Given the description of an element on the screen output the (x, y) to click on. 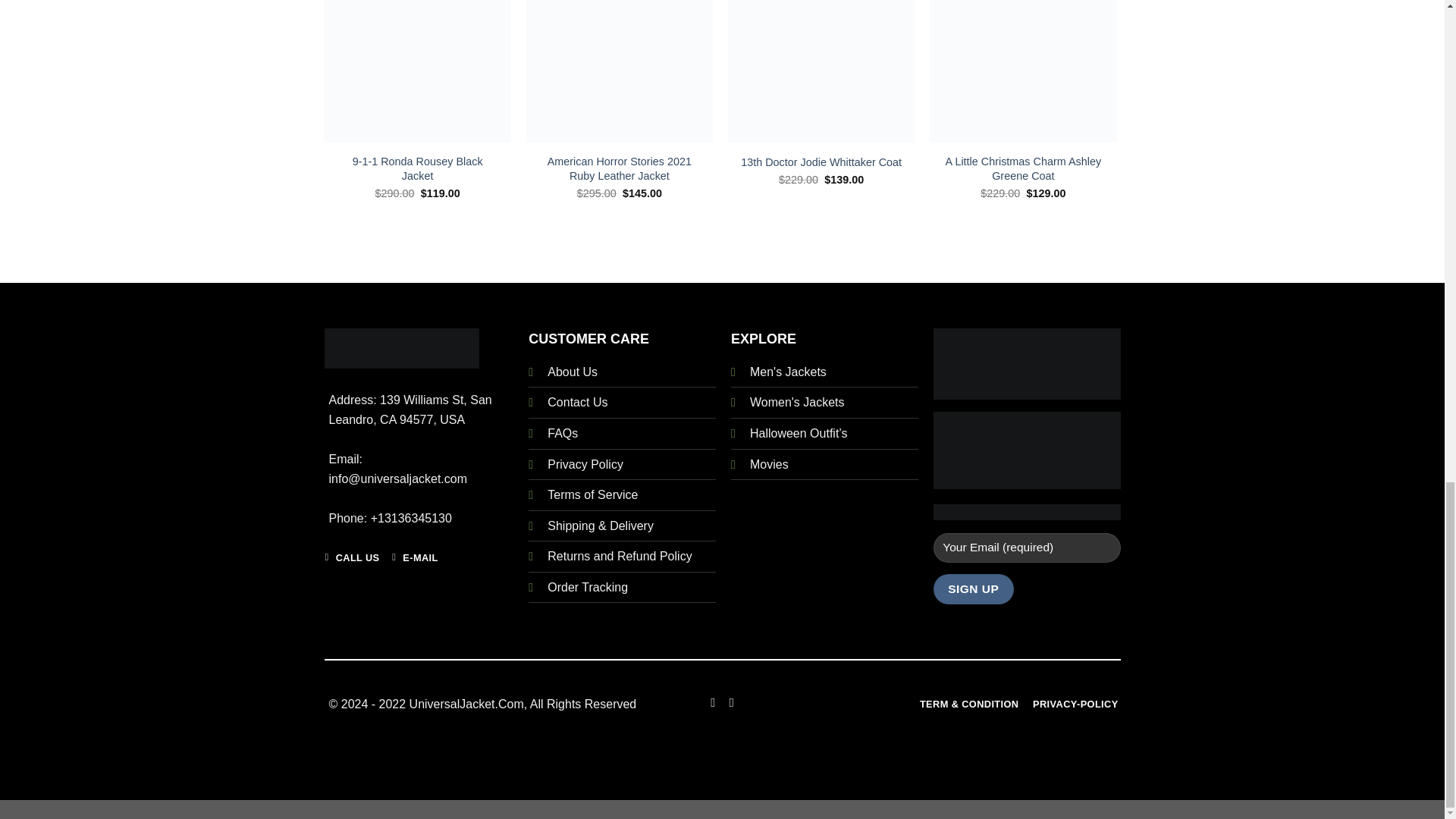
Submit (388, 295)
9-1-1 Ronda Rousey Black Jacket (417, 168)
American Horror Stories 2021 Ruby Leather Jacket (619, 168)
Sign Up (973, 588)
